Given the description of an element on the screen output the (x, y) to click on. 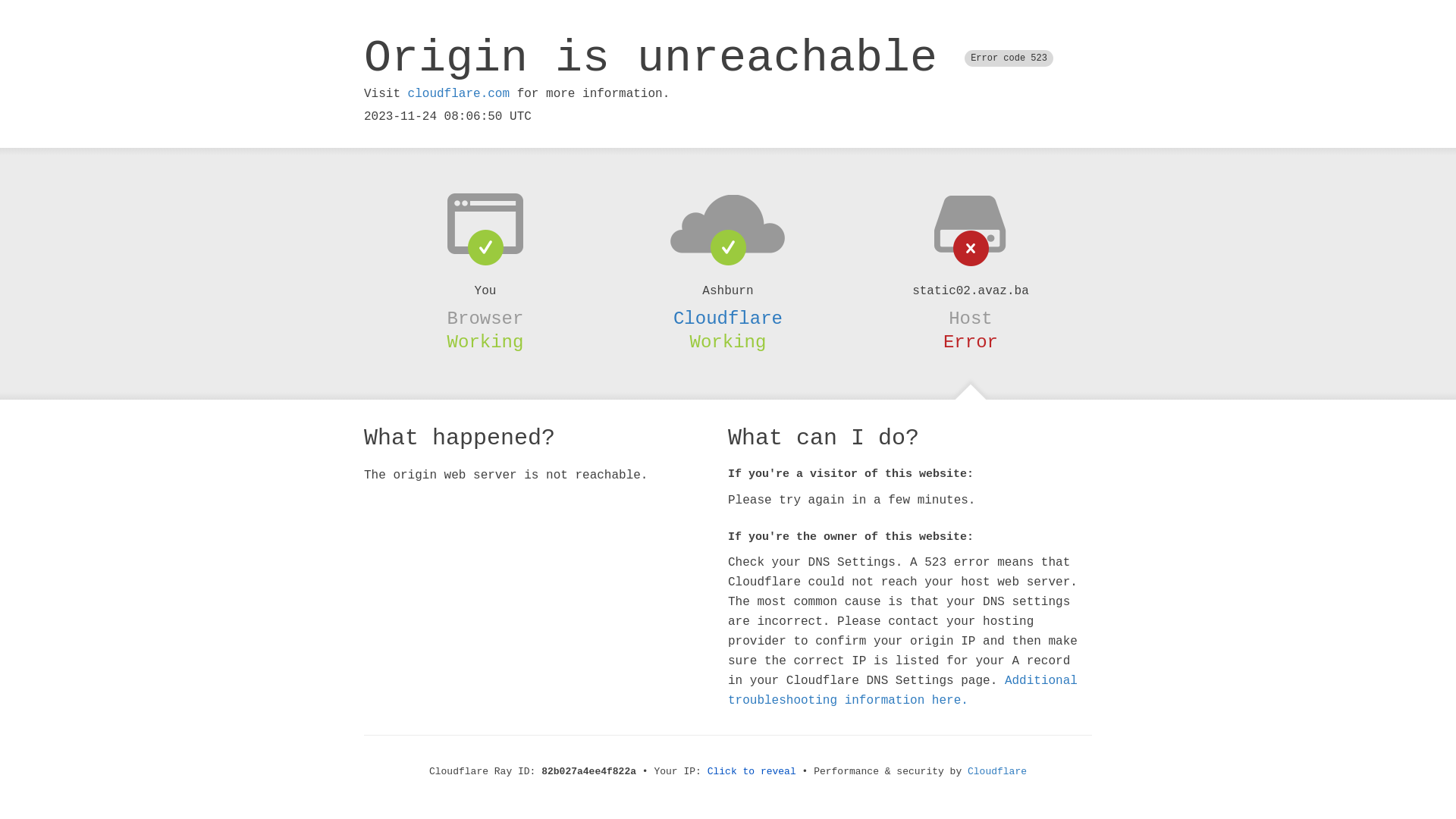
cloudflare.com Element type: text (458, 93)
Click to reveal Element type: text (751, 771)
Cloudflare Element type: text (996, 771)
Additional troubleshooting information here. Element type: text (902, 690)
Cloudflare Element type: text (727, 318)
